Given the description of an element on the screen output the (x, y) to click on. 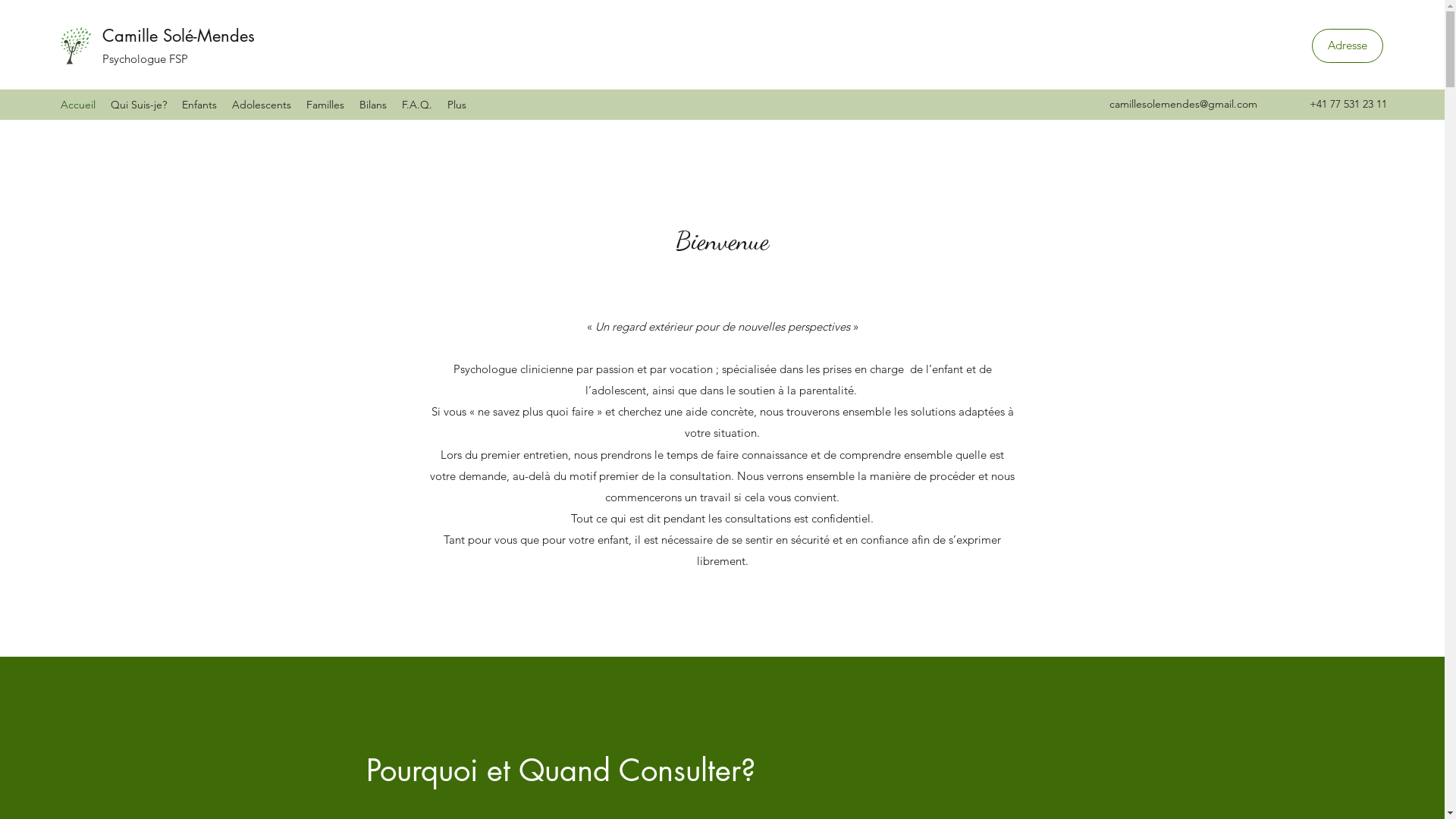
Accueil Element type: text (78, 104)
Adolescents Element type: text (261, 104)
Adresse Element type: text (1347, 45)
camillesolemendes@gmail.com Element type: text (1183, 103)
Bilans Element type: text (372, 104)
Qui Suis-je? Element type: text (138, 104)
F.A.Q. Element type: text (416, 104)
Familles Element type: text (324, 104)
Enfants Element type: text (199, 104)
